Given the description of an element on the screen output the (x, y) to click on. 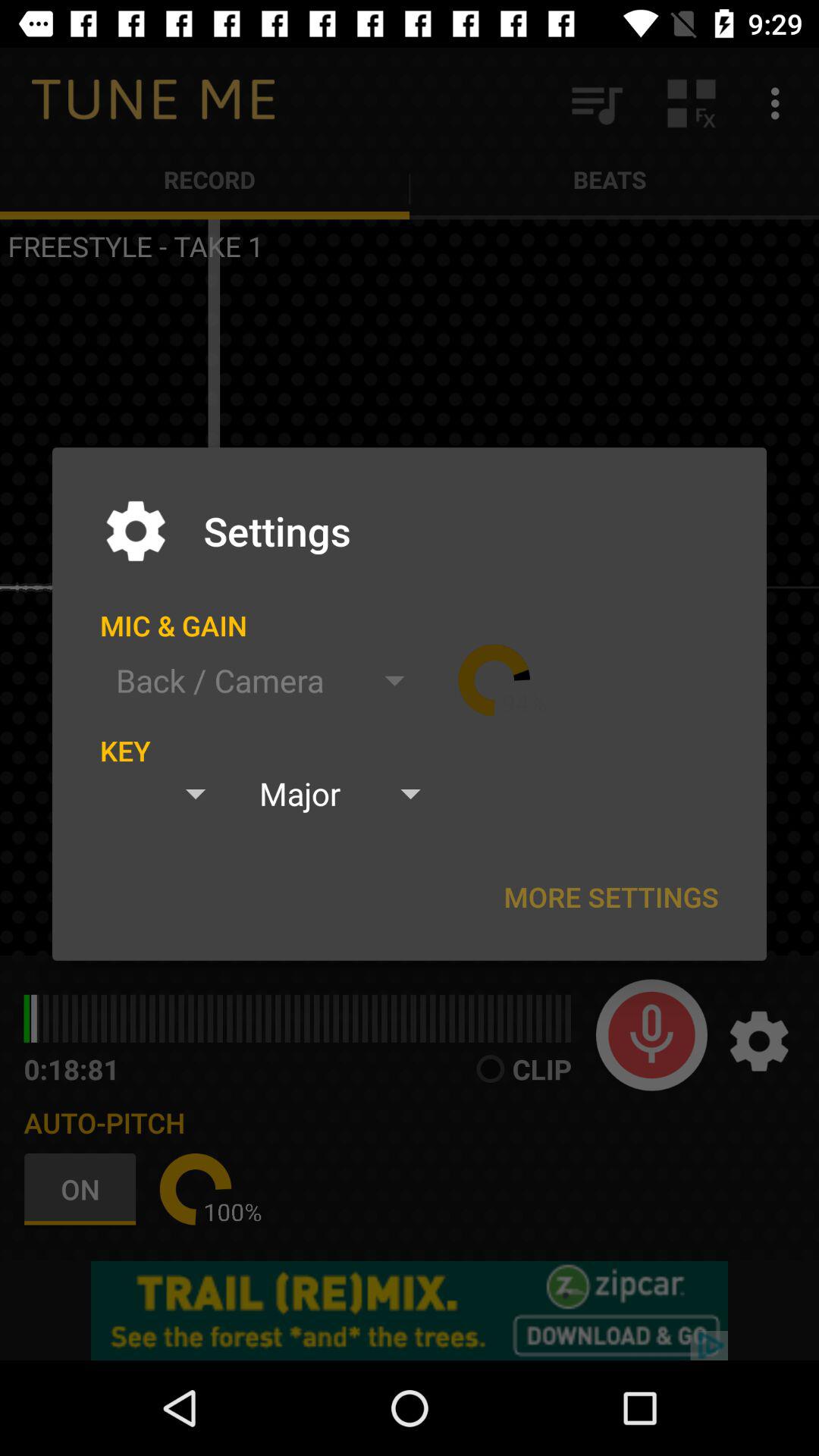
select app next to record (595, 103)
